Given the description of an element on the screen output the (x, y) to click on. 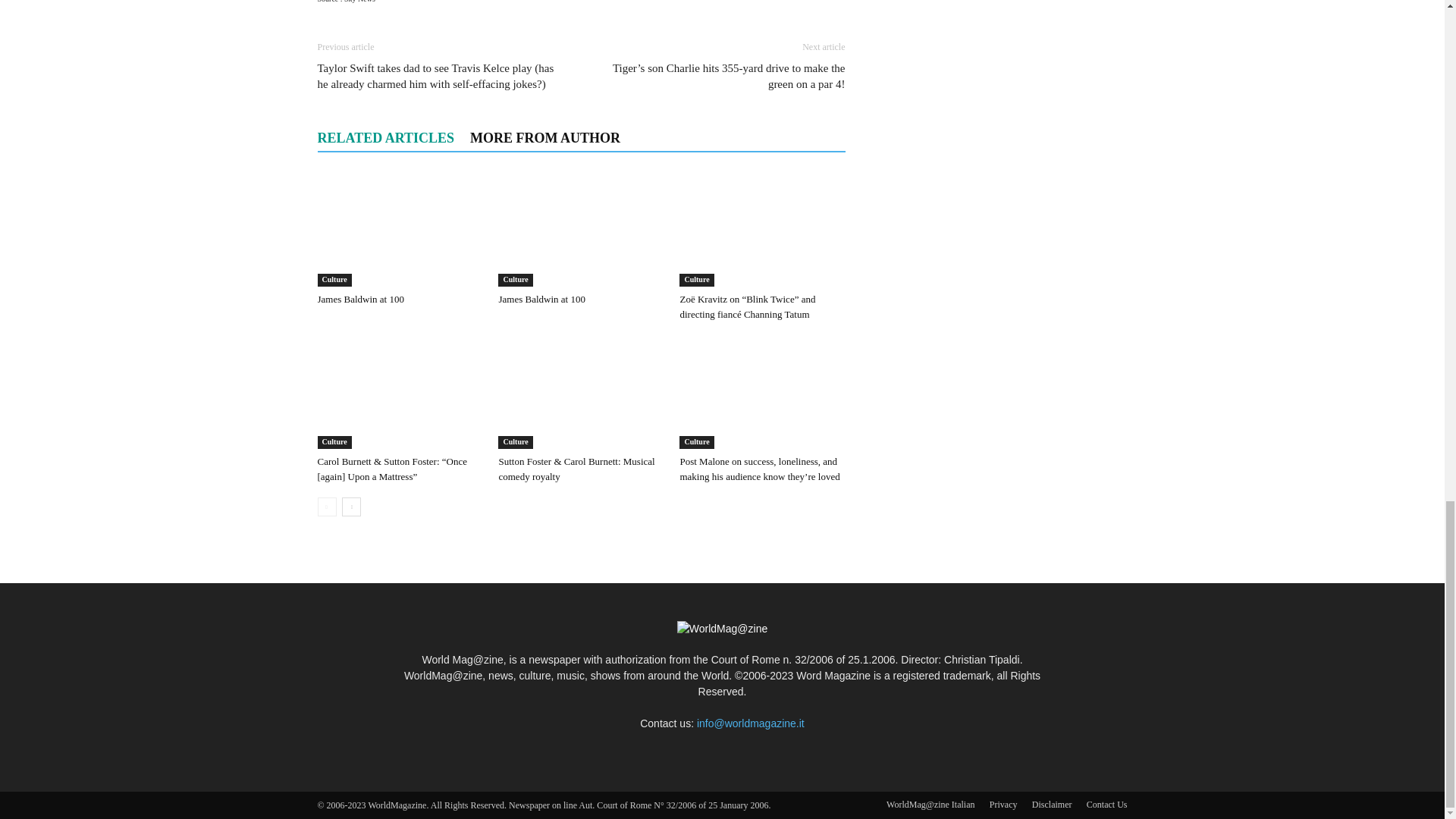
James Baldwin at 100 (399, 229)
James Baldwin at 100 (580, 229)
James Baldwin at 100 (360, 298)
James Baldwin at 100 (541, 298)
